Given the description of an element on the screen output the (x, y) to click on. 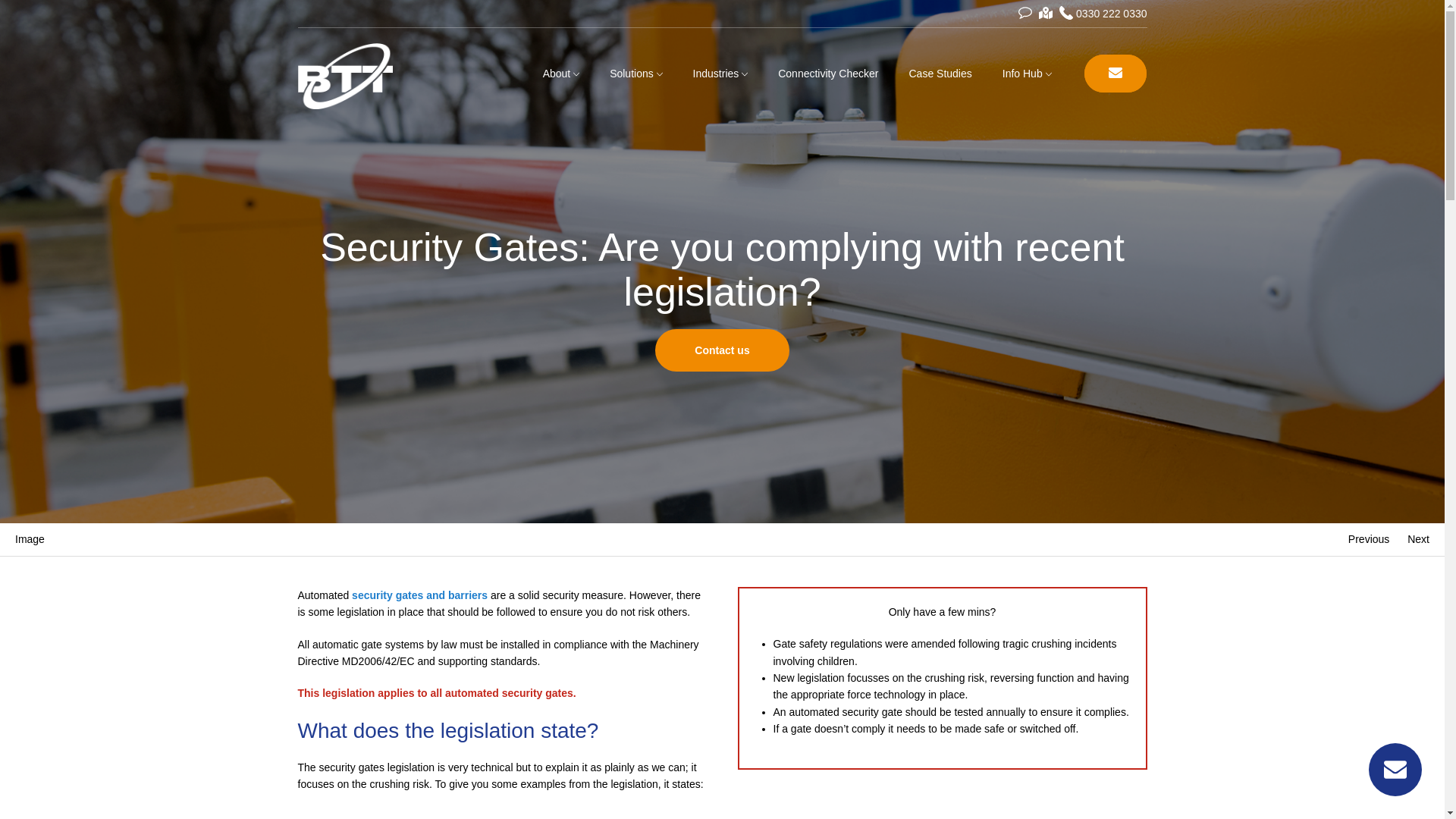
Next Product (1418, 539)
BTT Comms Ltd. (355, 77)
Find BTT Comms Northamptonshire Office (1045, 13)
Message our experts (1395, 769)
Previous Product (1368, 539)
0330 222 0330 (1103, 13)
Contact BTT Comms (1024, 13)
